Given the description of an element on the screen output the (x, y) to click on. 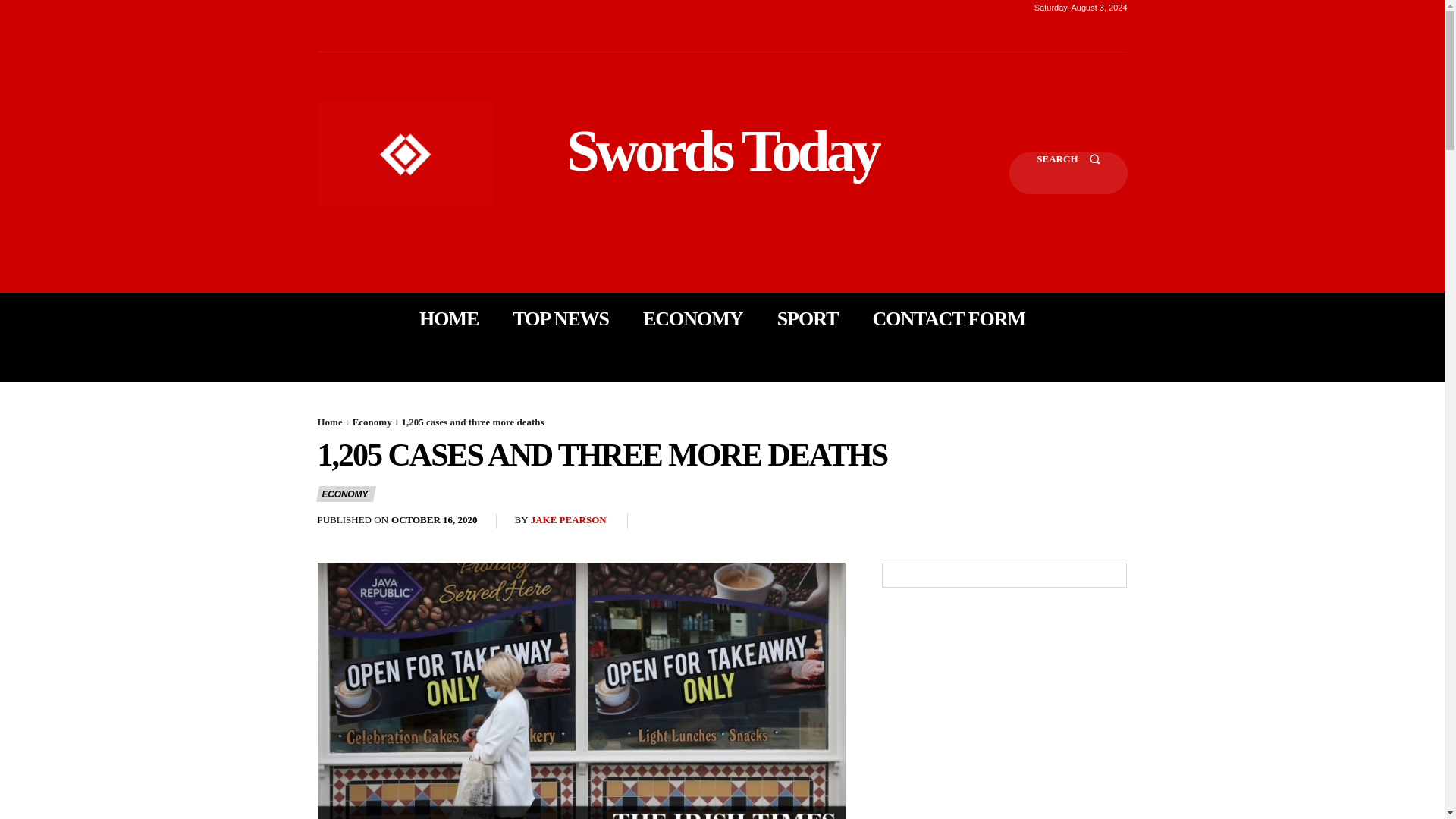
Home (329, 421)
TOP NEWS (560, 318)
ECONOMY (345, 494)
ECONOMY (692, 318)
View all posts in Economy (371, 421)
Economy (371, 421)
SPORT (807, 318)
HOME (449, 318)
SEARCH (1067, 173)
Swords Today (722, 149)
Search (1067, 173)
CONTACT FORM (948, 318)
JAKE PEARSON (569, 520)
